Given the description of an element on the screen output the (x, y) to click on. 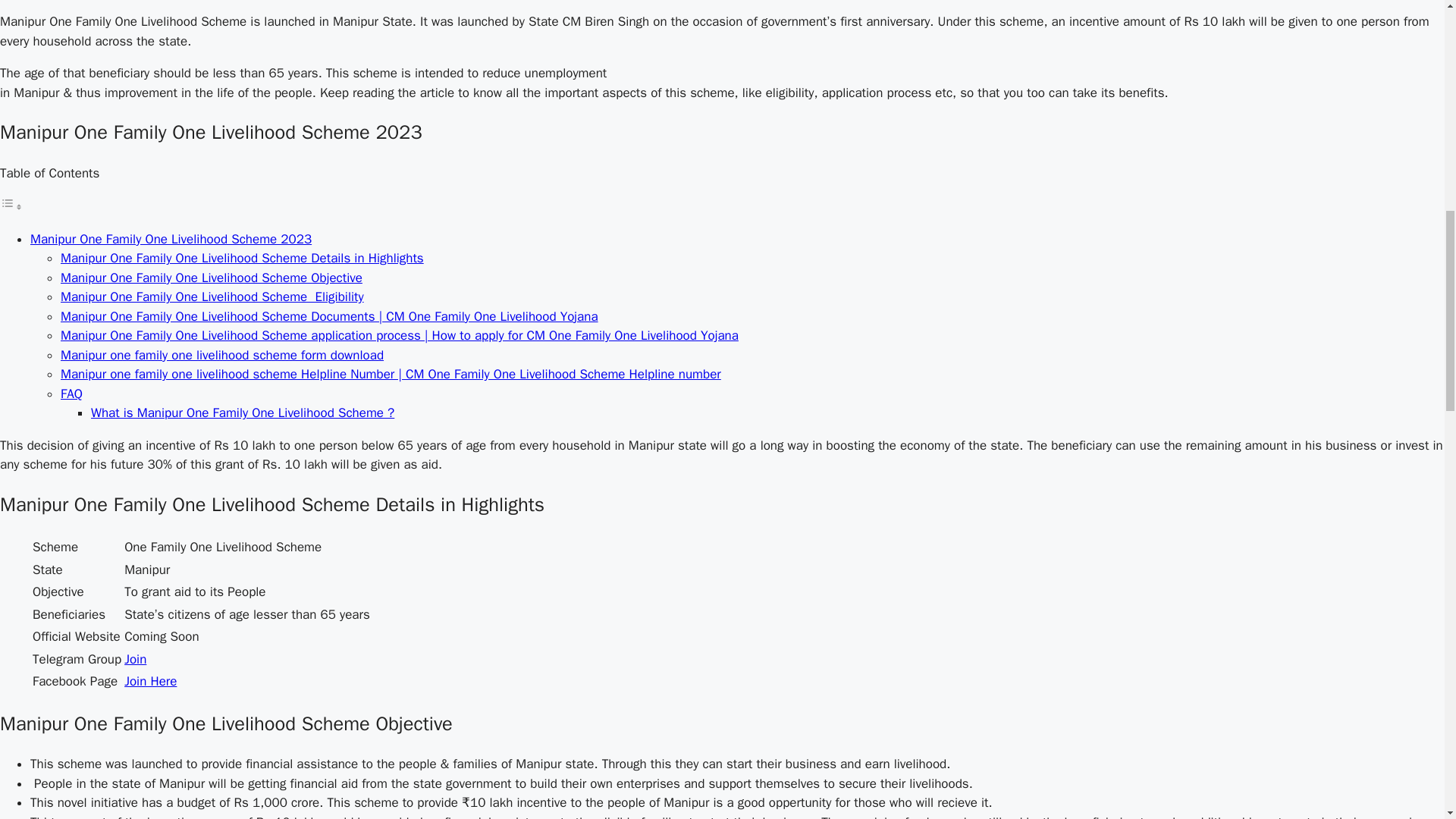
Manipur one family one livelihood scheme form download (222, 355)
Manipur One Family One Livelihood Scheme Objective (211, 277)
Manipur one family one livelihood scheme form download (222, 355)
Manipur One Family One Livelihood Scheme 2023 (170, 238)
What is Manipur One Family One Livelihood Scheme ? (242, 412)
Manipur One Family One Livelihood Scheme  Eligibility (212, 296)
Manipur One Family One Livelihood Scheme 2023 (170, 238)
Manipur One Family One Livelihood Scheme Objective (211, 277)
FAQ (71, 393)
Join Here (149, 681)
FAQ (71, 393)
What is Manipur One Family One Livelihood Scheme ? (242, 412)
